Given the description of an element on the screen output the (x, y) to click on. 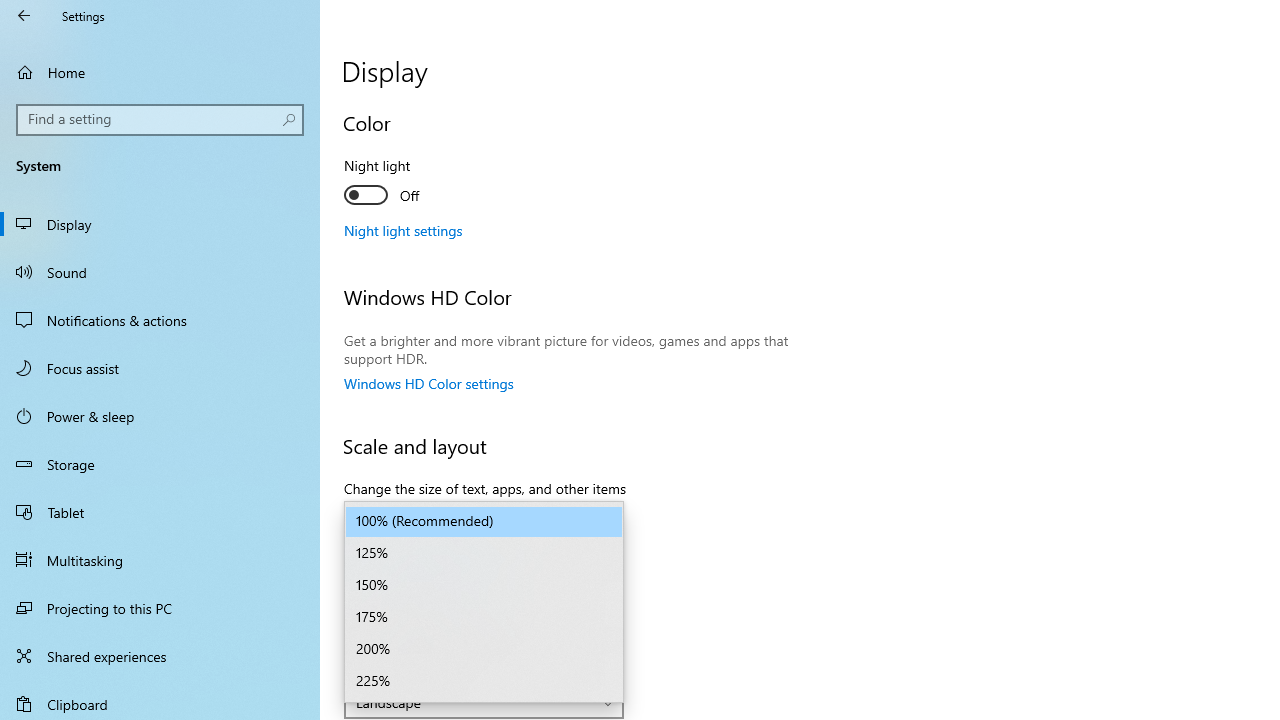
125% (484, 553)
Storage (160, 463)
Tablet (160, 511)
150% (484, 585)
Landscape (473, 702)
Display resolution (484, 632)
Change the size of text, apps, and other items (484, 521)
Display orientation (484, 702)
Sound (160, 271)
Power & sleep (160, 415)
Notifications & actions (160, 319)
Focus assist (160, 367)
